Given the description of an element on the screen output the (x, y) to click on. 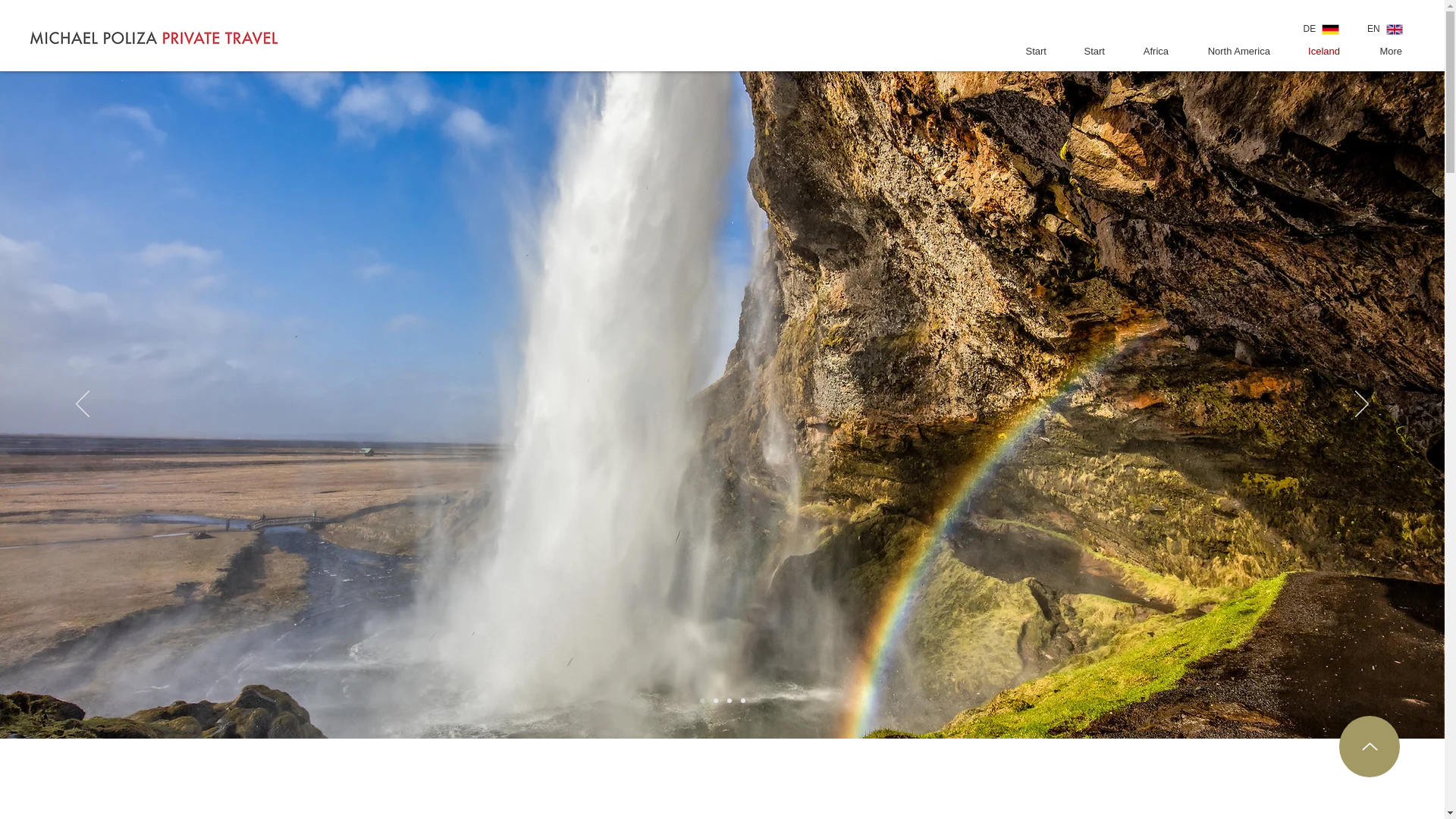
Start (1087, 51)
Africa (1147, 51)
DE (1317, 28)
Iceland (1316, 51)
Start (1028, 51)
North America (1230, 51)
EN (1381, 28)
